Given the description of an element on the screen output the (x, y) to click on. 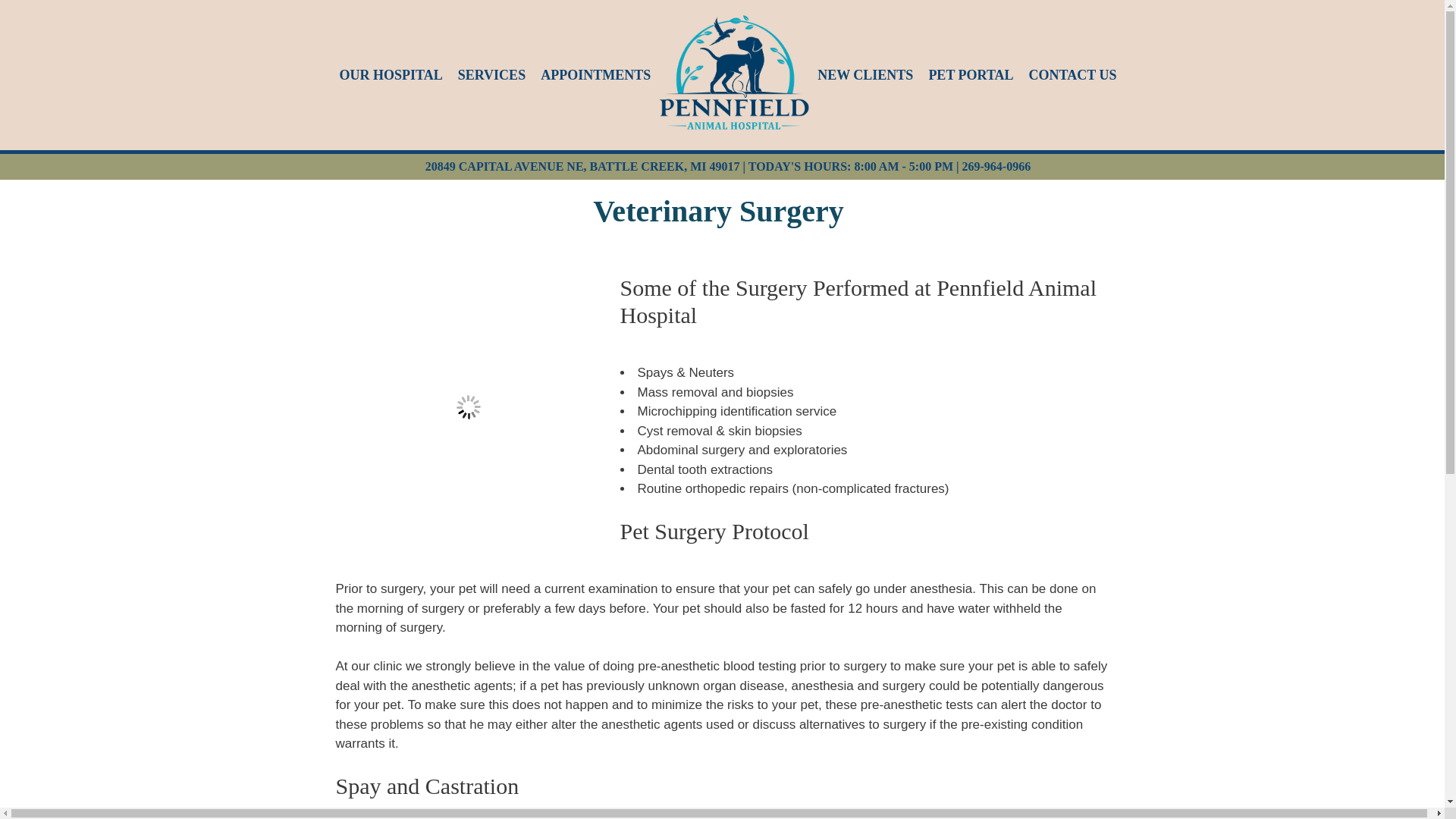
NEW CLIENTS (864, 75)
SERVICES (491, 75)
PET PORTAL (970, 75)
OUR HOSPITAL (390, 75)
269-964-0966 (996, 165)
CONTACT US (1072, 75)
APPOINTMENTS (595, 75)
